Given the description of an element on the screen output the (x, y) to click on. 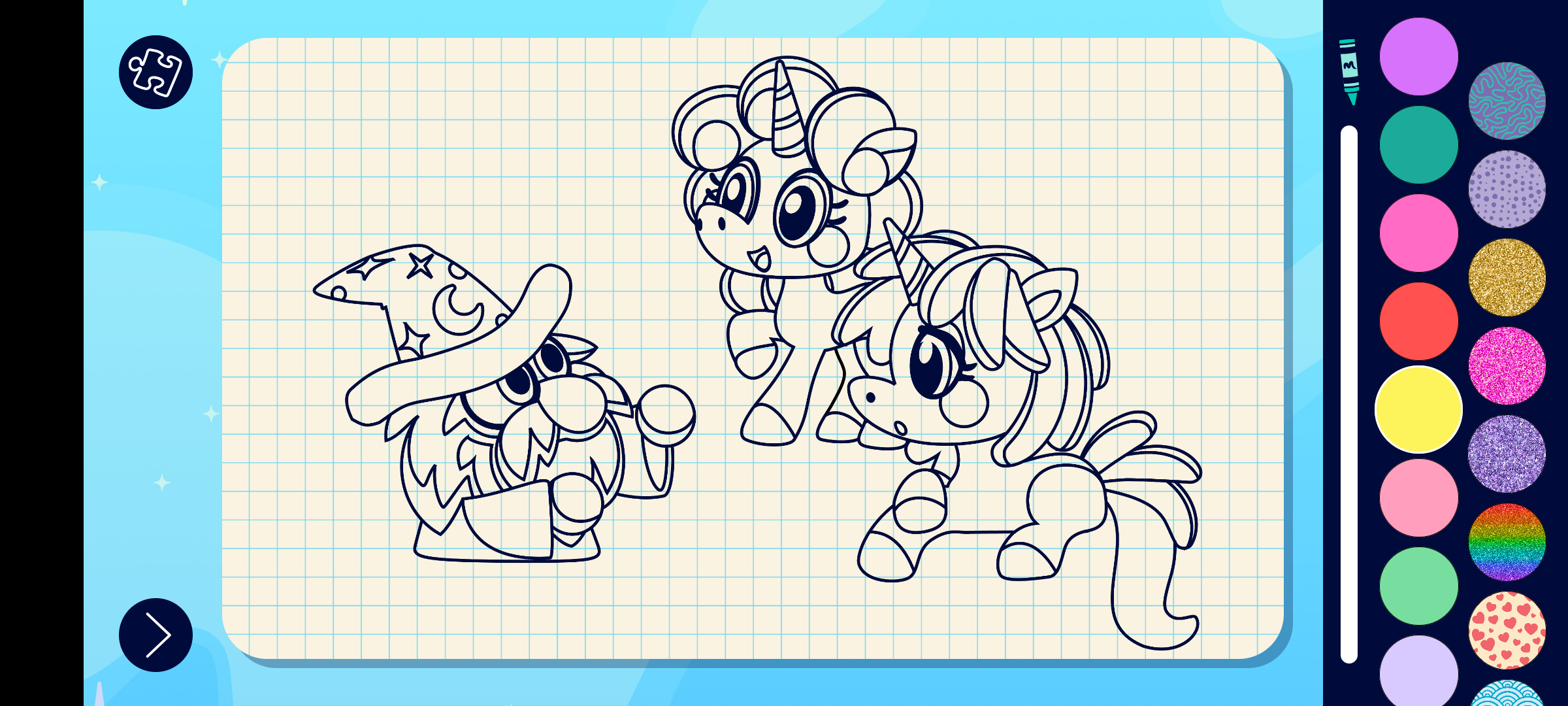
coloring background (1507, 101)
coloring background (1507, 189)
coloring background (1507, 277)
coloring background (1507, 365)
coloring background (1507, 454)
coloring background (1507, 542)
coloring background (1507, 630)
